Given the description of an element on the screen output the (x, y) to click on. 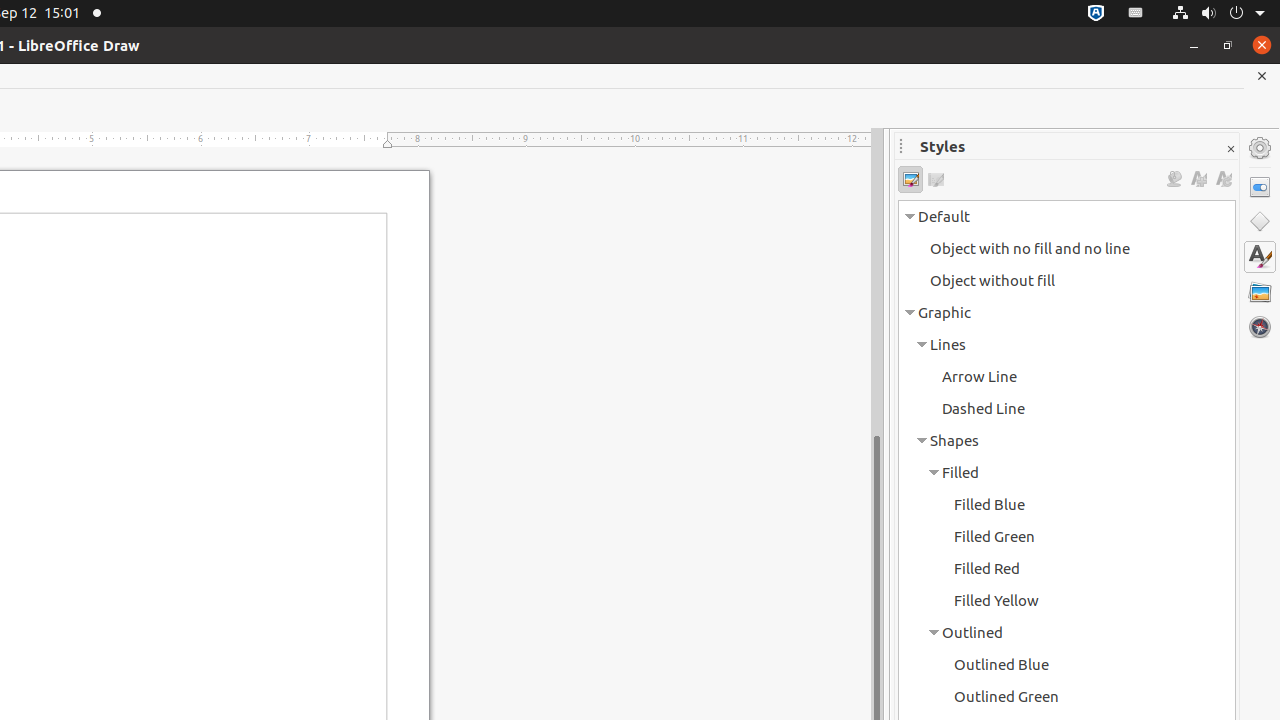
Presentation Styles Element type: push-button (935, 179)
:1.21/StatusNotifierItem Element type: menu (1136, 13)
Properties Element type: radio-button (1260, 187)
Navigator Element type: radio-button (1260, 327)
Gallery Element type: radio-button (1260, 292)
